Given the description of an element on the screen output the (x, y) to click on. 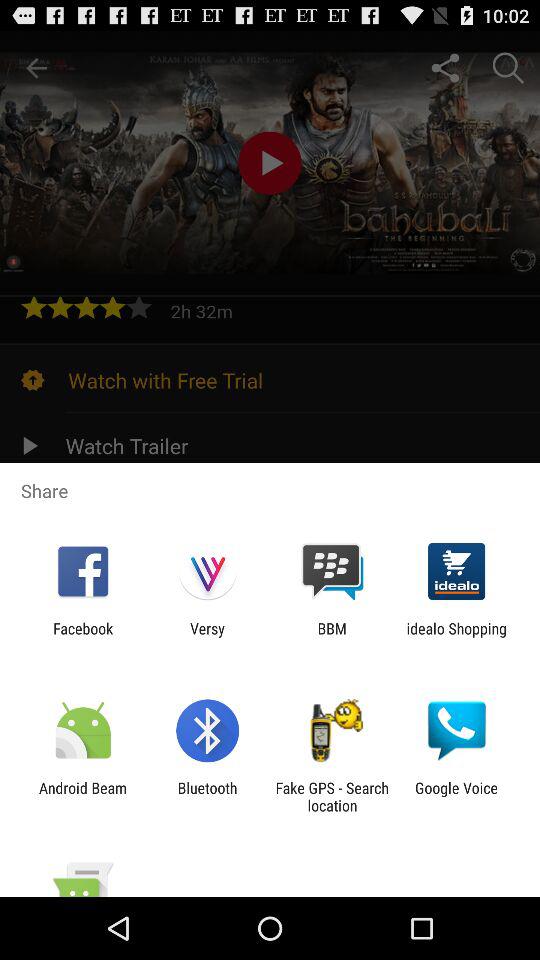
jump until facebook icon (83, 637)
